Given the description of an element on the screen output the (x, y) to click on. 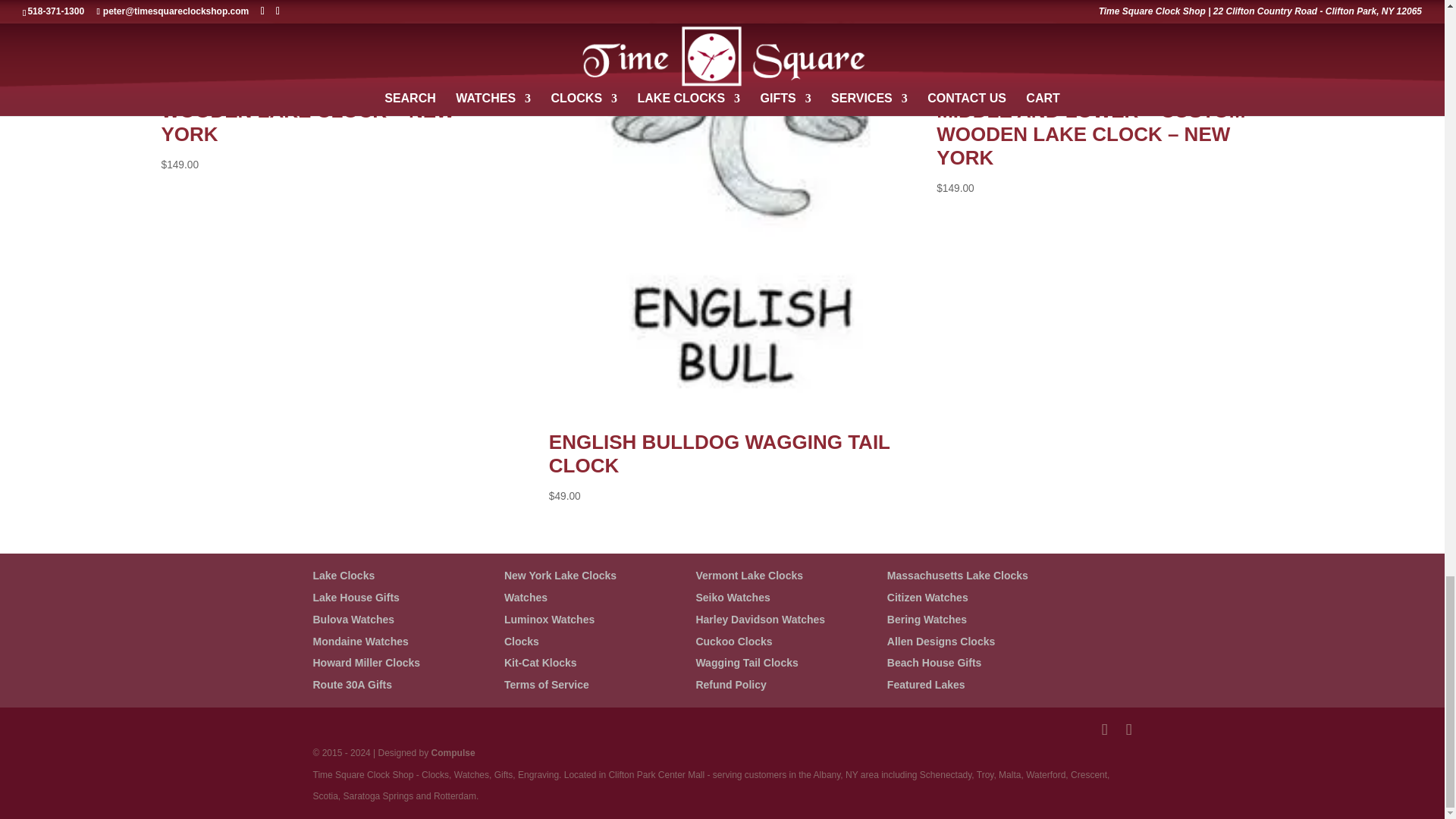
Solutions at your fingertips (453, 752)
